Given the description of an element on the screen output the (x, y) to click on. 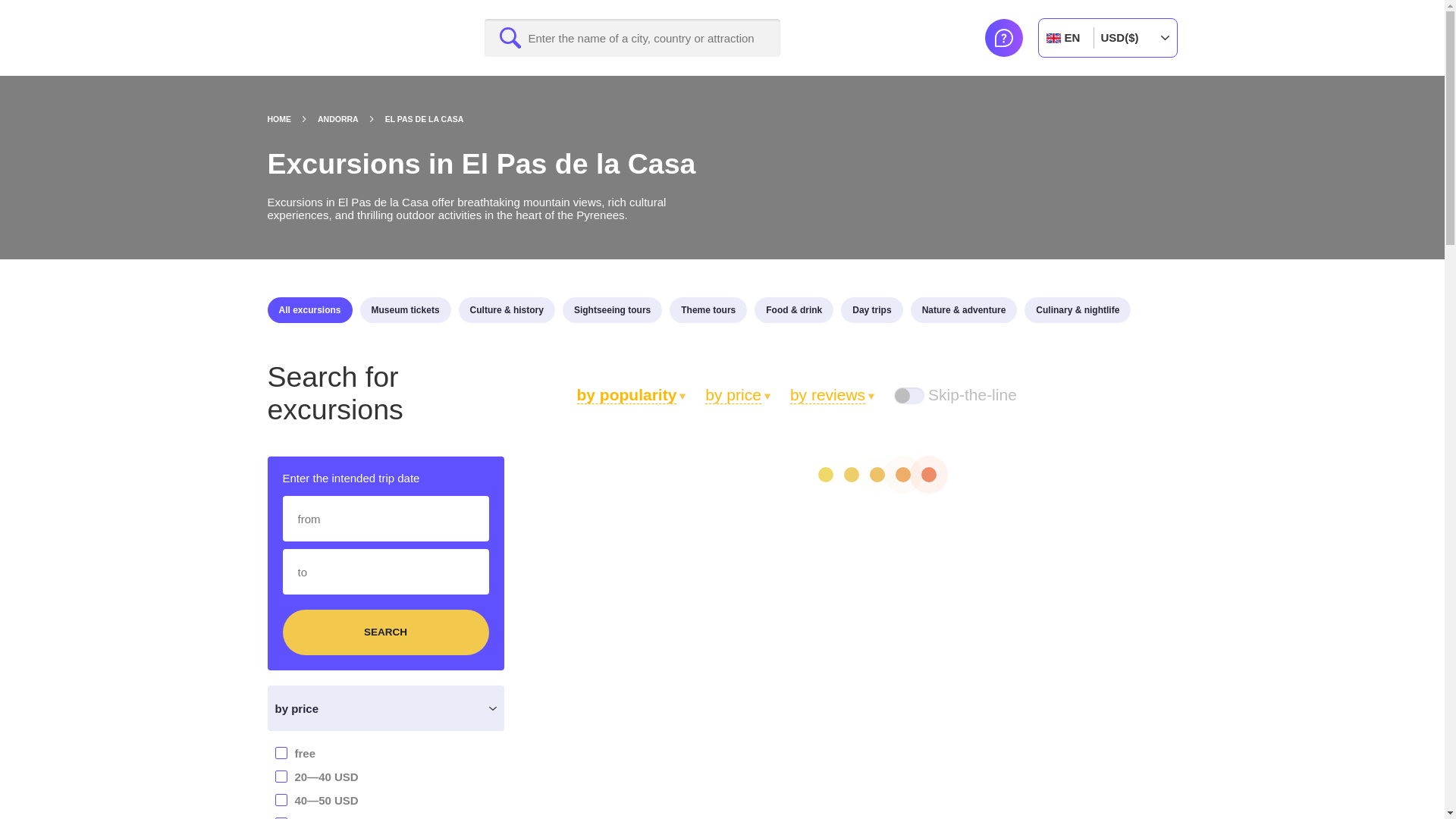
Theme tours (707, 309)
by price (737, 394)
Sightseeing tours (612, 309)
EN (1066, 37)
All excursions (309, 309)
0,0 (204, 751)
Museum tickets (405, 309)
Skip-the-line (954, 394)
by popularity (630, 394)
1001guide.com (340, 37)
Day trips (871, 309)
Help center (1003, 37)
ANDORRA (351, 118)
SEARCH (384, 632)
